Given the description of an element on the screen output the (x, y) to click on. 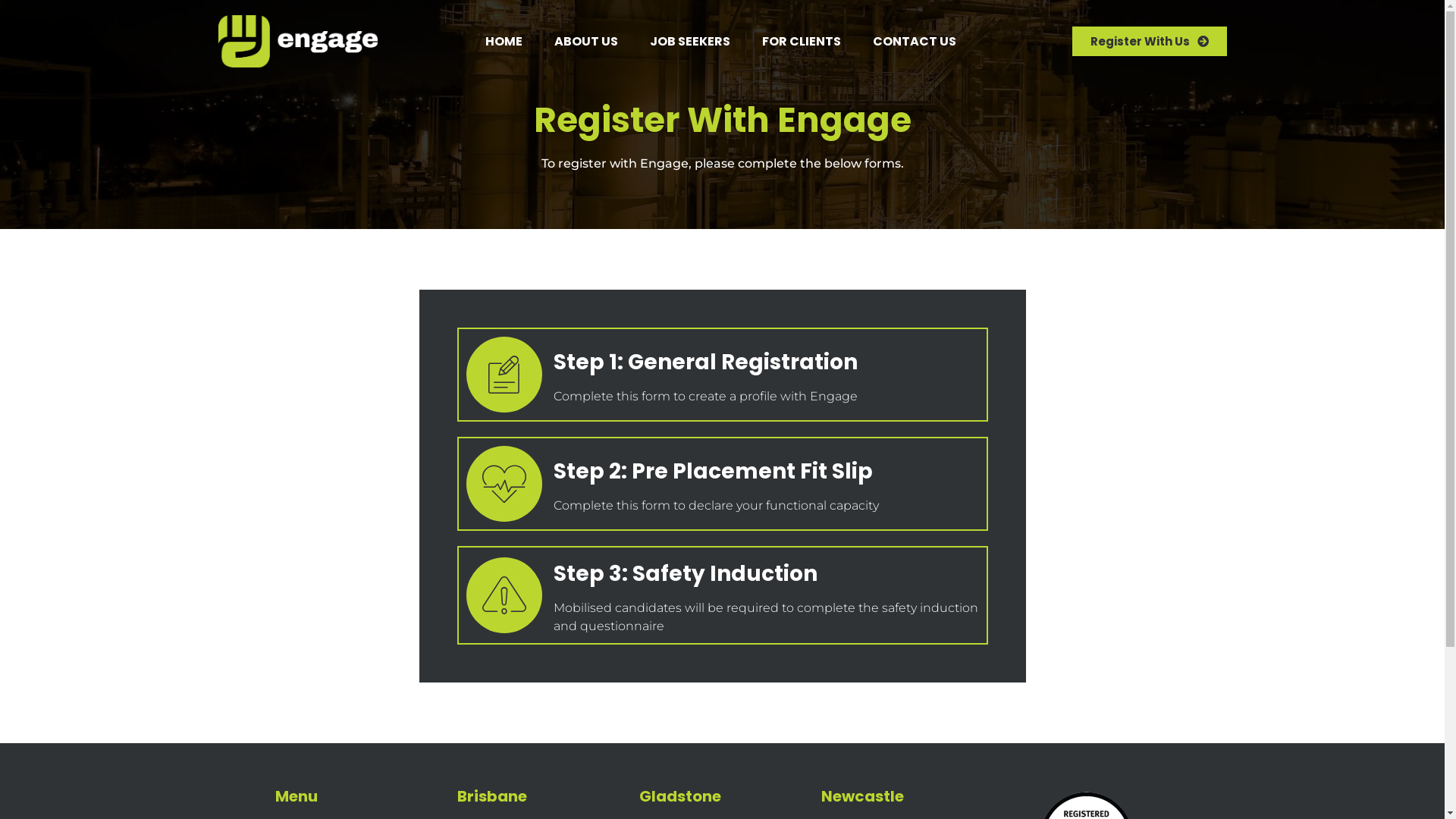
FOR CLIENTS Element type: text (801, 41)
CONTACT US Element type: text (914, 41)
HOME Element type: text (503, 41)
JOB SEEKERS Element type: text (689, 41)
Step 1: General Registration Element type: text (705, 361)
ABOUT US Element type: text (586, 41)
Step 3: Safety Induction Element type: text (685, 573)
Step 2: Pre Placement Fit Slip Element type: text (712, 471)
Register With Us Element type: text (1149, 41)
